Given the description of an element on the screen output the (x, y) to click on. 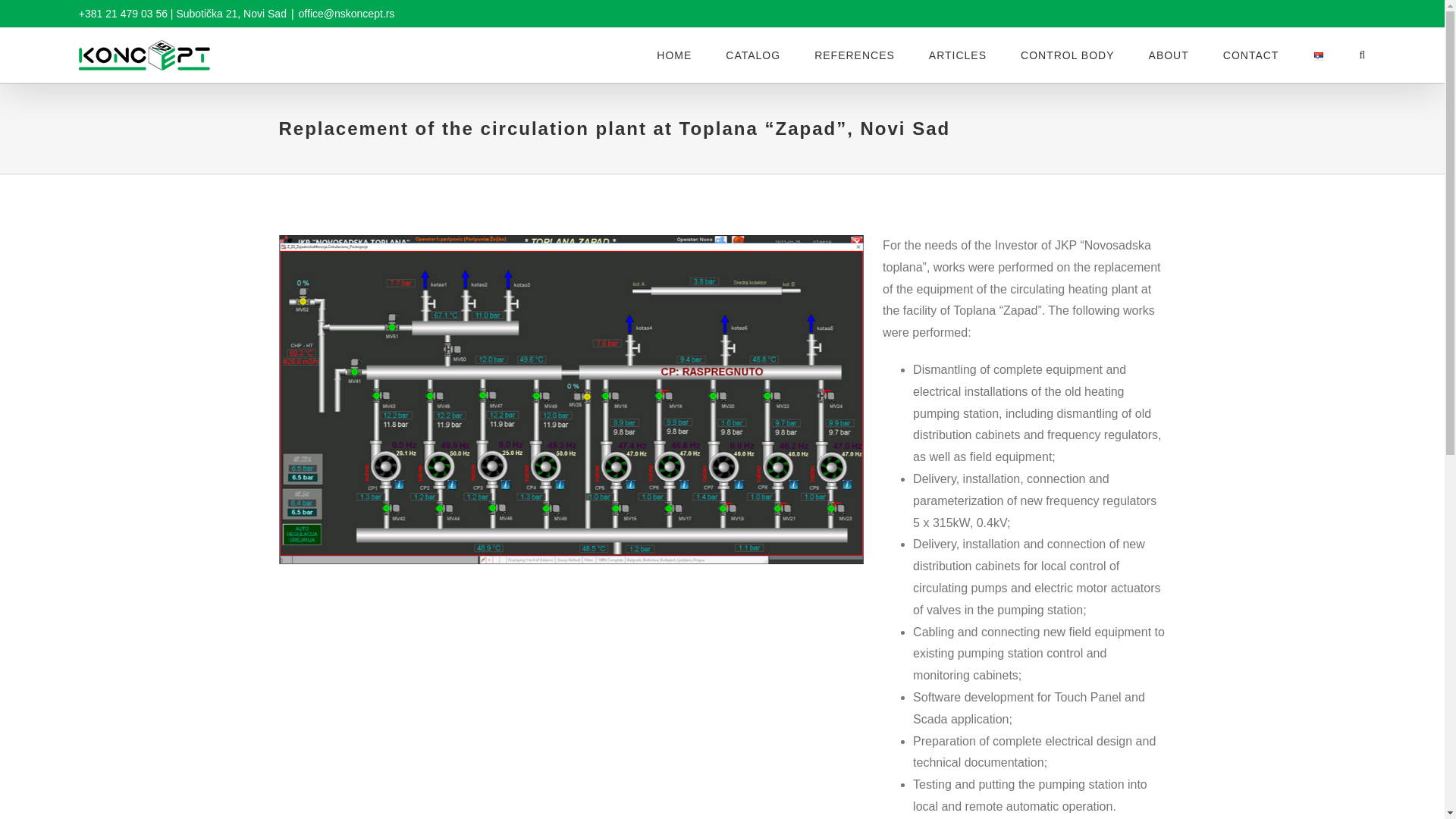
CATALOG (752, 55)
CONTROL BODY (1067, 55)
ARTICLES (957, 55)
HOME (673, 55)
Search (1361, 55)
CONTACT (1251, 55)
ABOUT (1168, 55)
REFERENCES (854, 55)
